Given the description of an element on the screen output the (x, y) to click on. 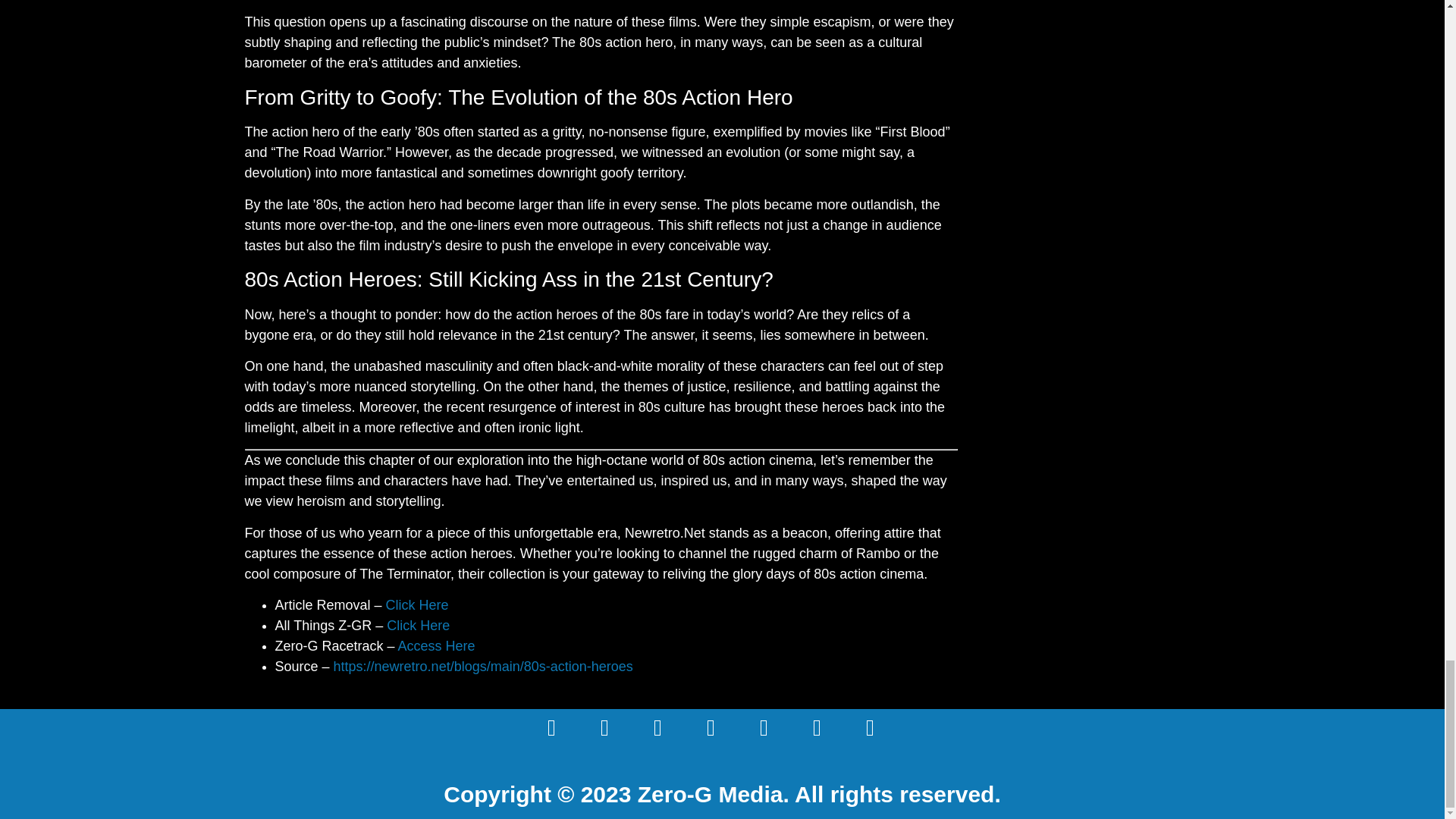
Access Here (436, 645)
Click Here (418, 625)
Click Here (416, 604)
